Given the description of an element on the screen output the (x, y) to click on. 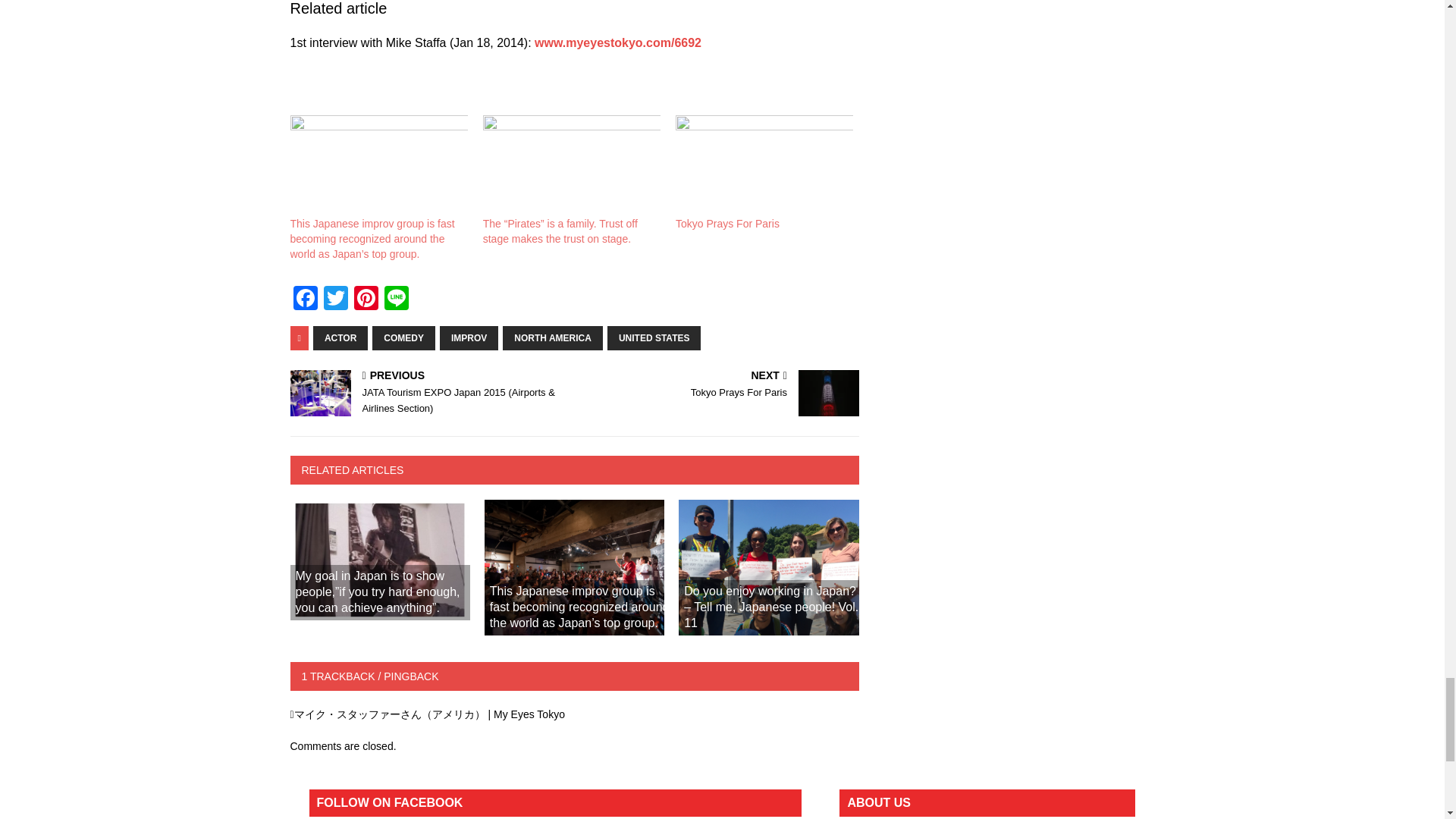
Pinterest (365, 299)
Tokyo Prays For Paris (764, 166)
Twitter (335, 299)
Line (395, 299)
Facebook (304, 299)
Tokyo Prays For Paris (726, 223)
